Given the description of an element on the screen output the (x, y) to click on. 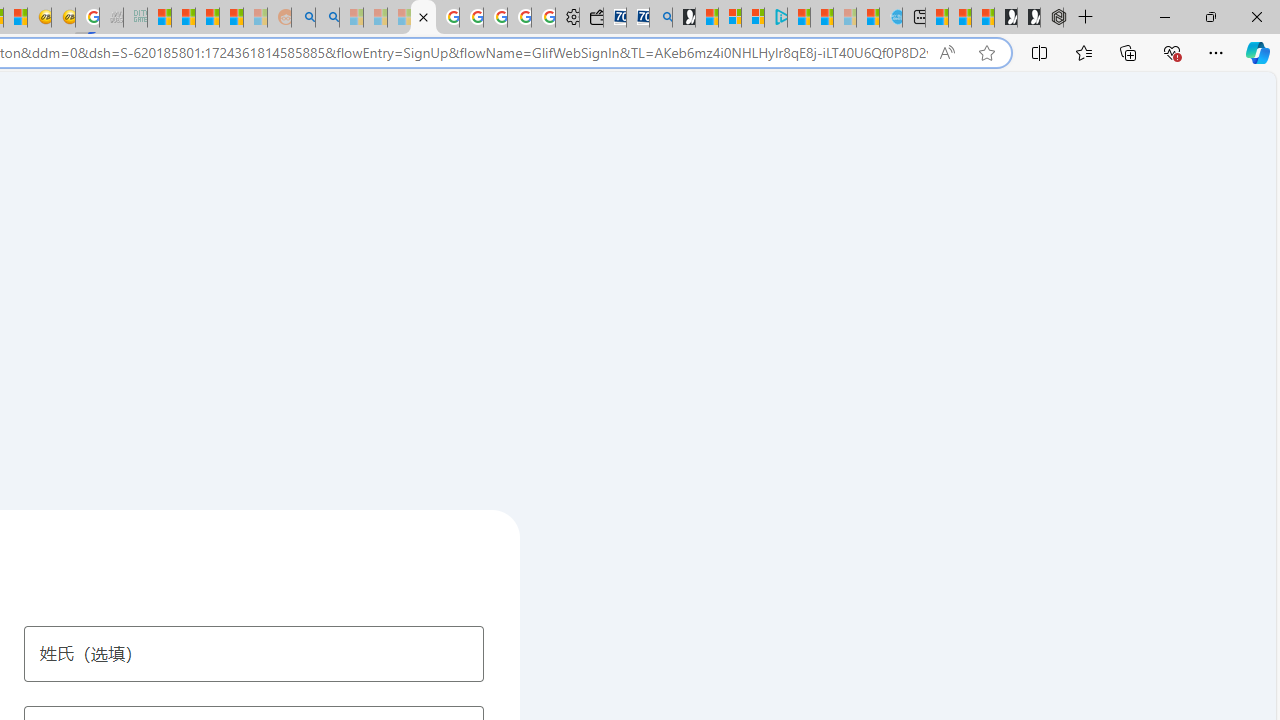
Home | Sky Blue Bikes - Sky Blue Bikes (890, 17)
Student Loan Update: Forgiveness Program Ends This Month (231, 17)
Bing Real Estate - Home sales and rental listings (660, 17)
